Given the description of an element on the screen output the (x, y) to click on. 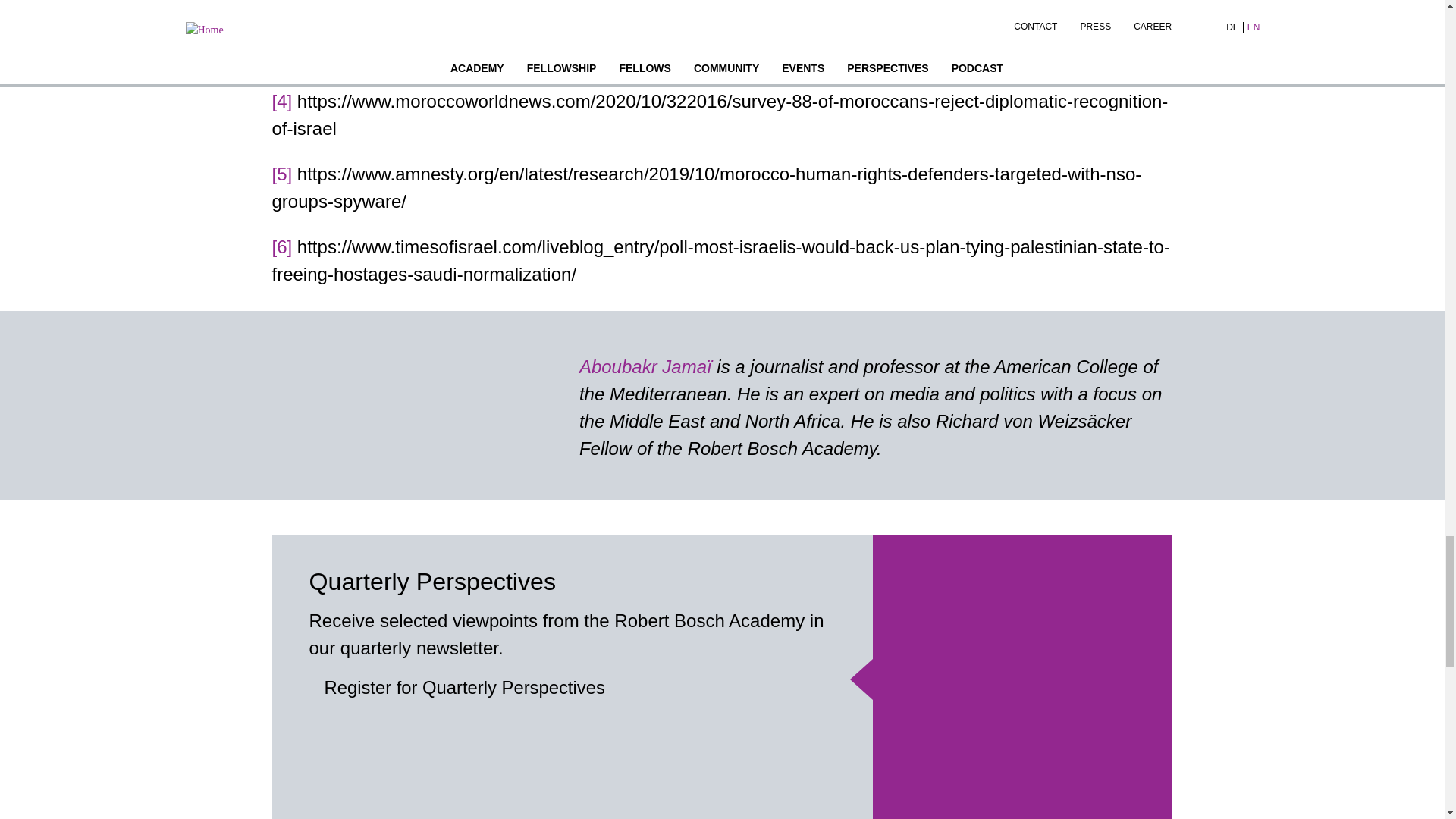
Register for Quarterly Perspectives (464, 687)
